Given the description of an element on the screen output the (x, y) to click on. 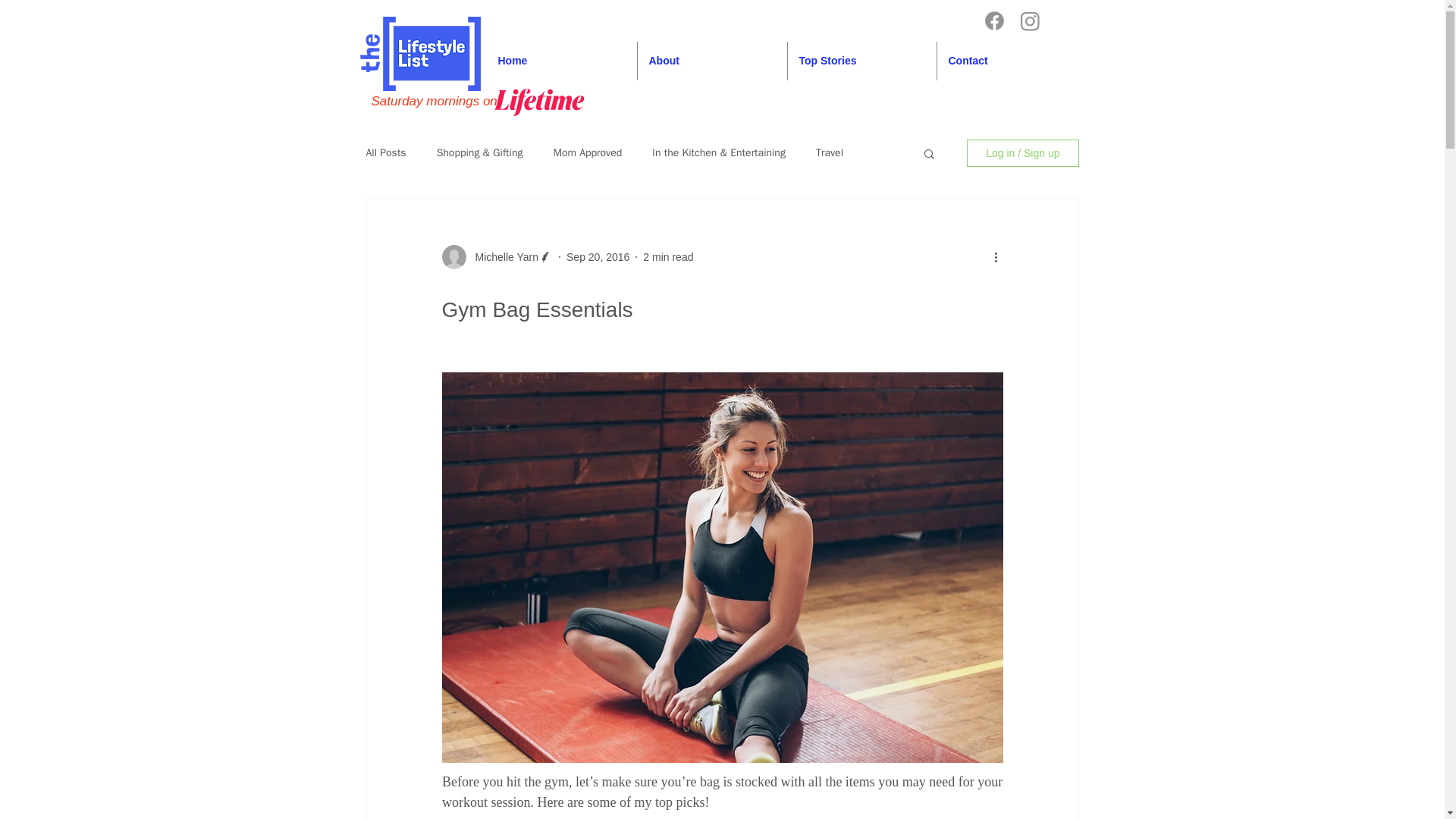
Michelle Yarn (501, 256)
2 min read (668, 256)
Top Stories (861, 60)
Home (561, 60)
Travel (829, 152)
Contact (1011, 60)
About (711, 60)
Mom Approved (587, 152)
All Posts (385, 152)
Sep 20, 2016 (597, 256)
